Given the description of an element on the screen output the (x, y) to click on. 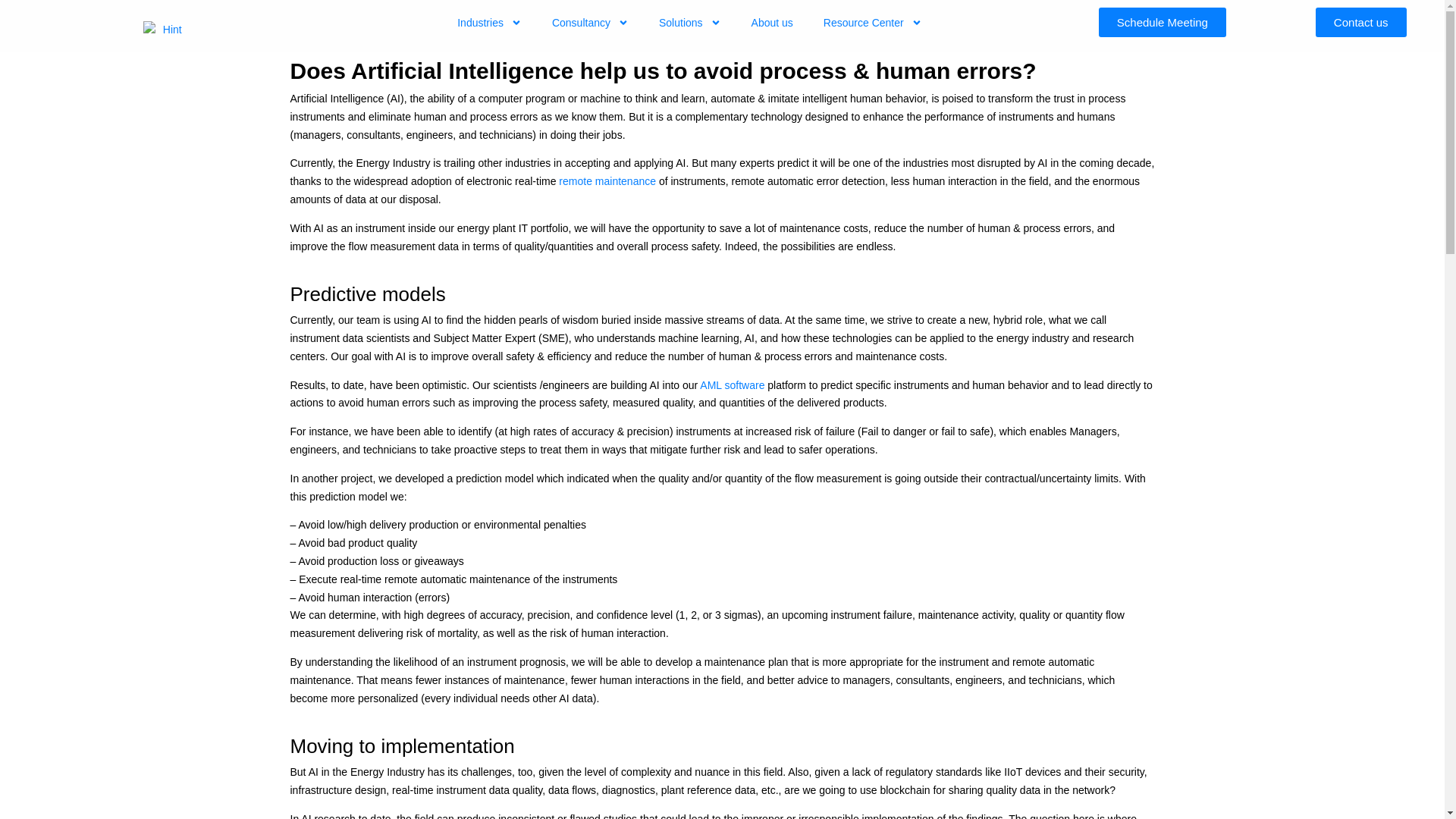
About us (772, 21)
Industries (489, 21)
Consultancy (590, 21)
Solutions (689, 21)
Resource Center (872, 21)
